Given the description of an element on the screen output the (x, y) to click on. 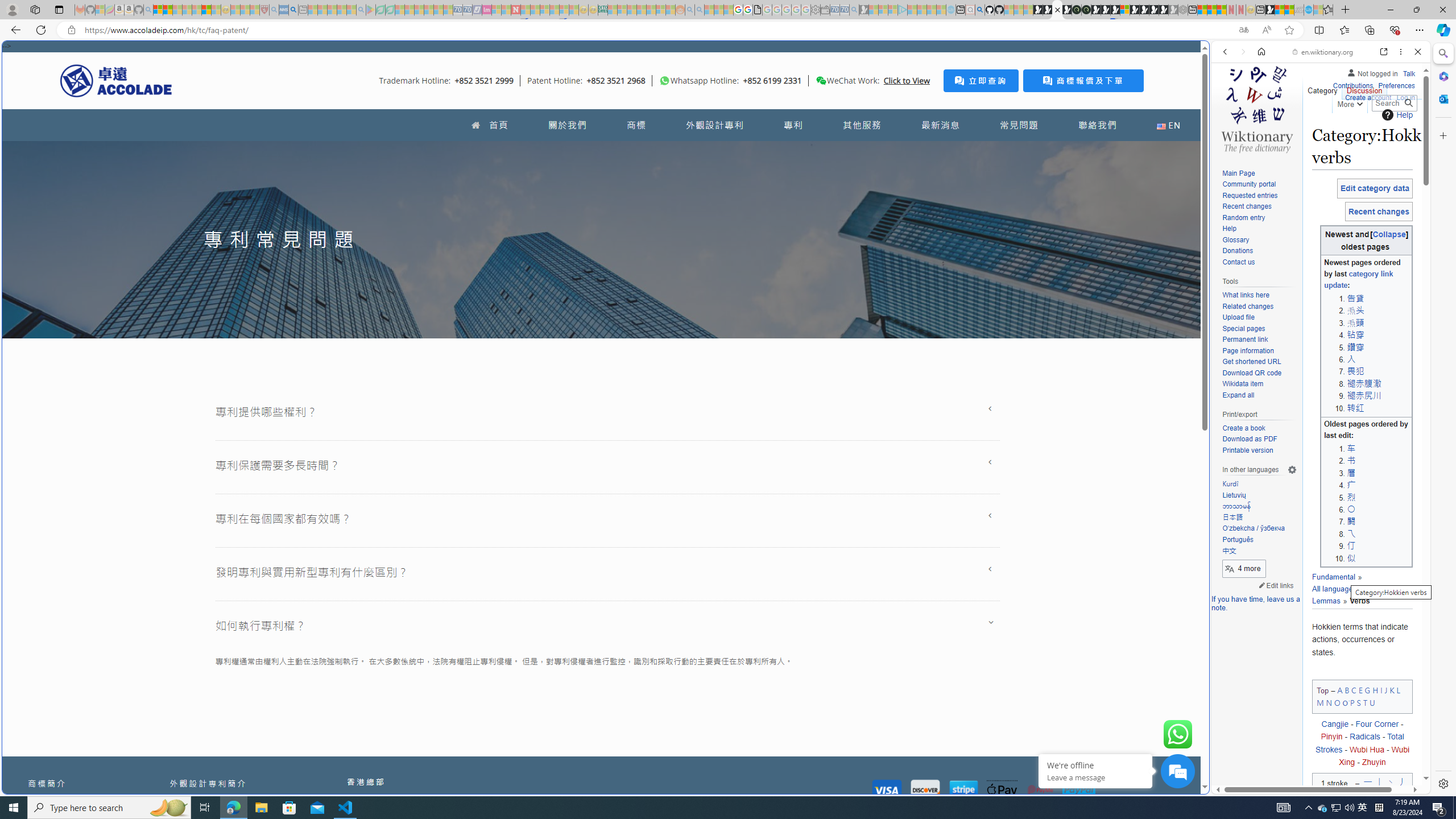
Fundamental (1333, 576)
Lemmas (1325, 601)
Verbs (1354, 601)
E (1360, 689)
EN (1168, 124)
L (1398, 689)
Related changes (1259, 306)
